Given the description of an element on the screen output the (x, y) to click on. 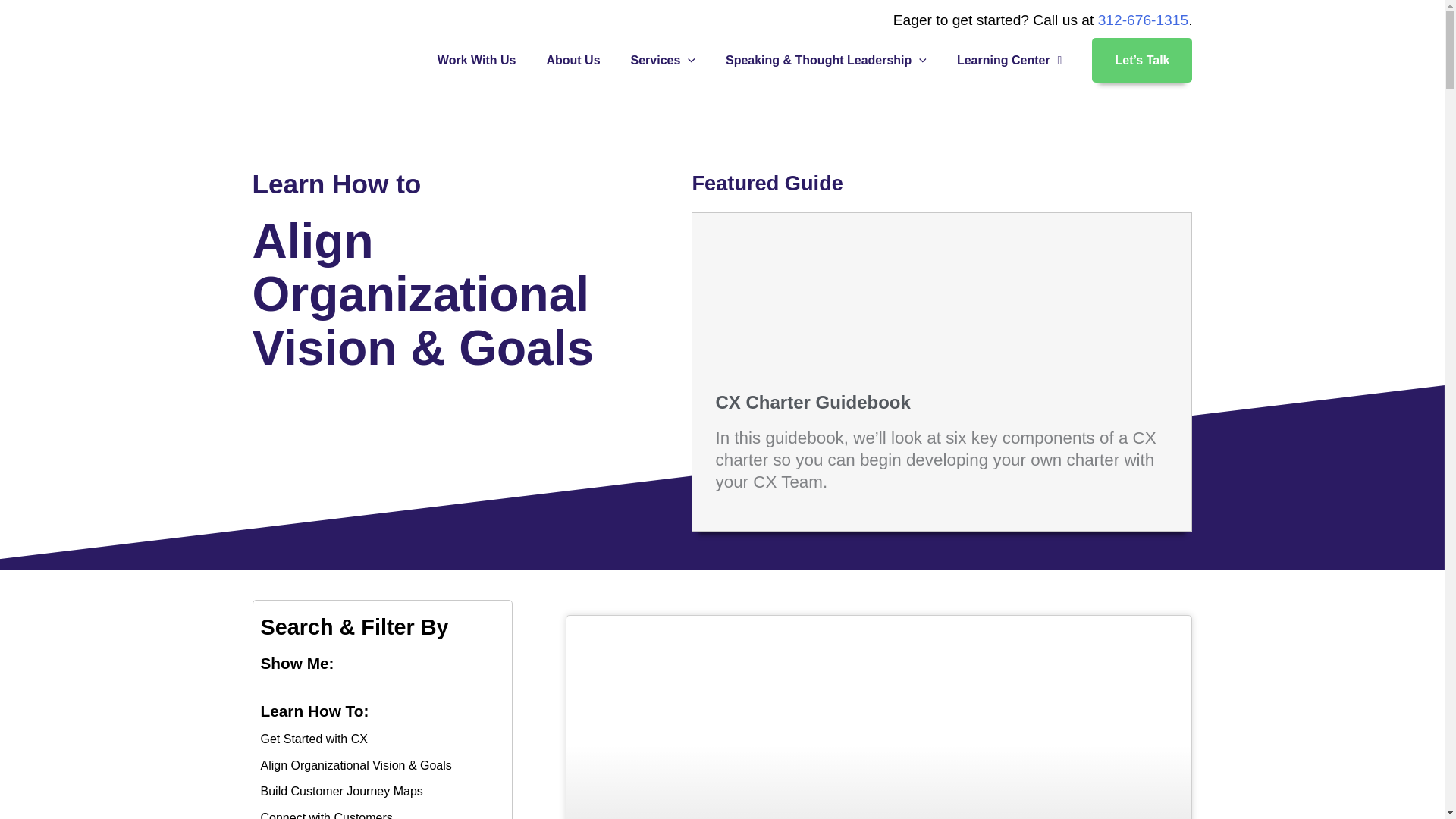
Learning Center (1009, 59)
About Us (572, 59)
CX Charter Guidebook (812, 402)
Work With Us (476, 59)
Services (662, 59)
Get Started with CX (381, 739)
Connect with Customers (381, 812)
312-676-1315 (1143, 19)
Build Customer Journey Maps (381, 791)
